Given the description of an element on the screen output the (x, y) to click on. 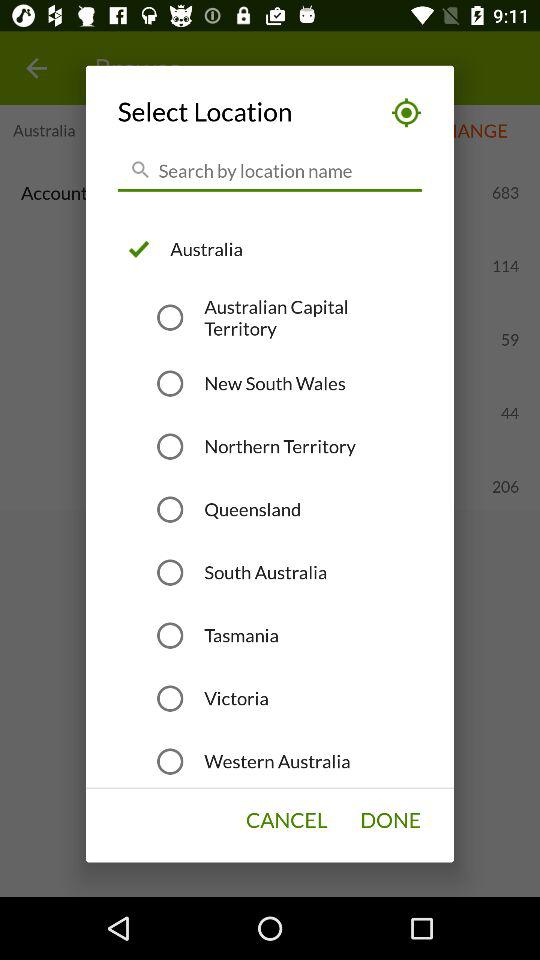
click item below the tasmania (236, 698)
